Given the description of an element on the screen output the (x, y) to click on. 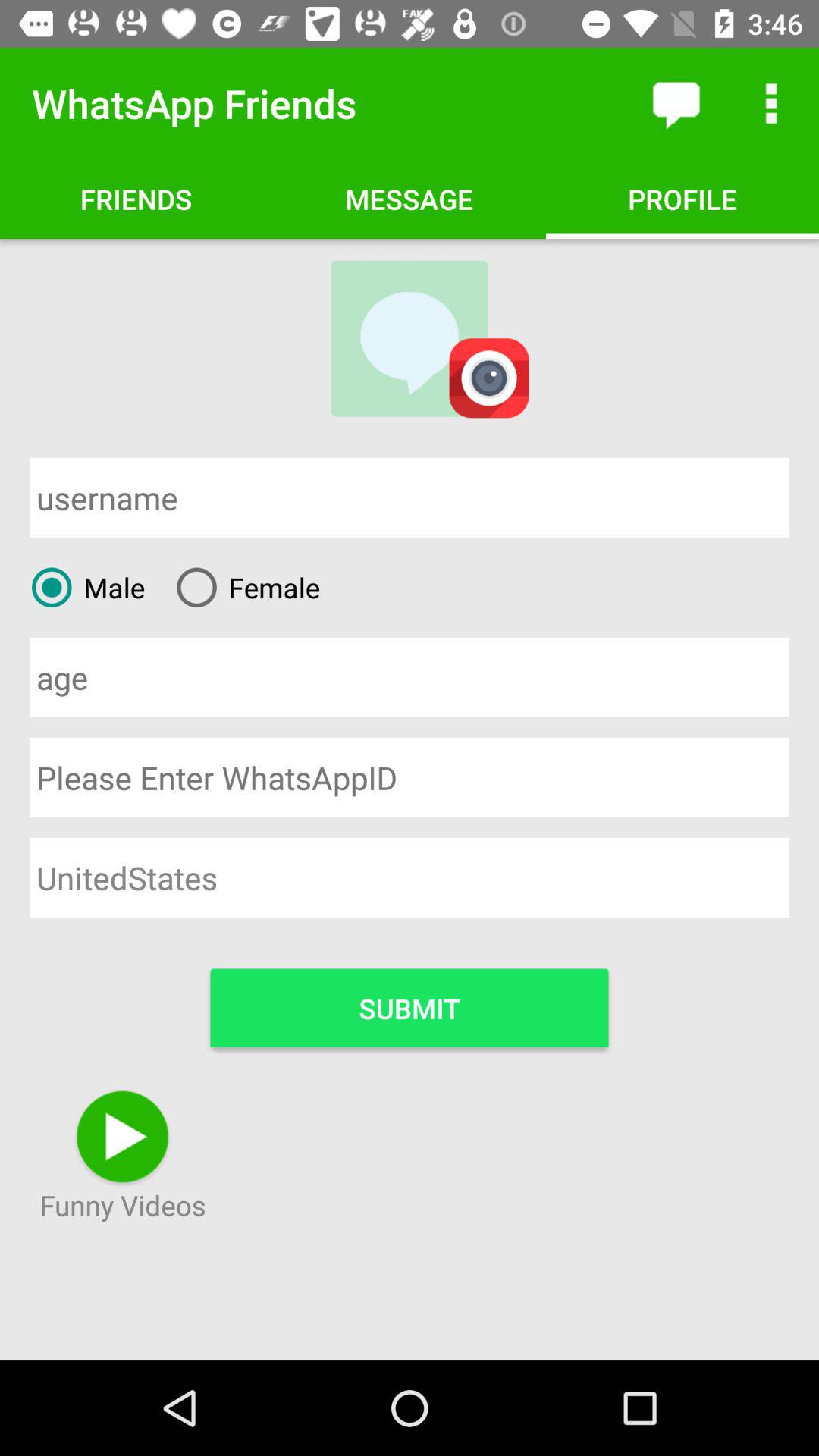
insert username for the account (409, 497)
